Given the description of an element on the screen output the (x, y) to click on. 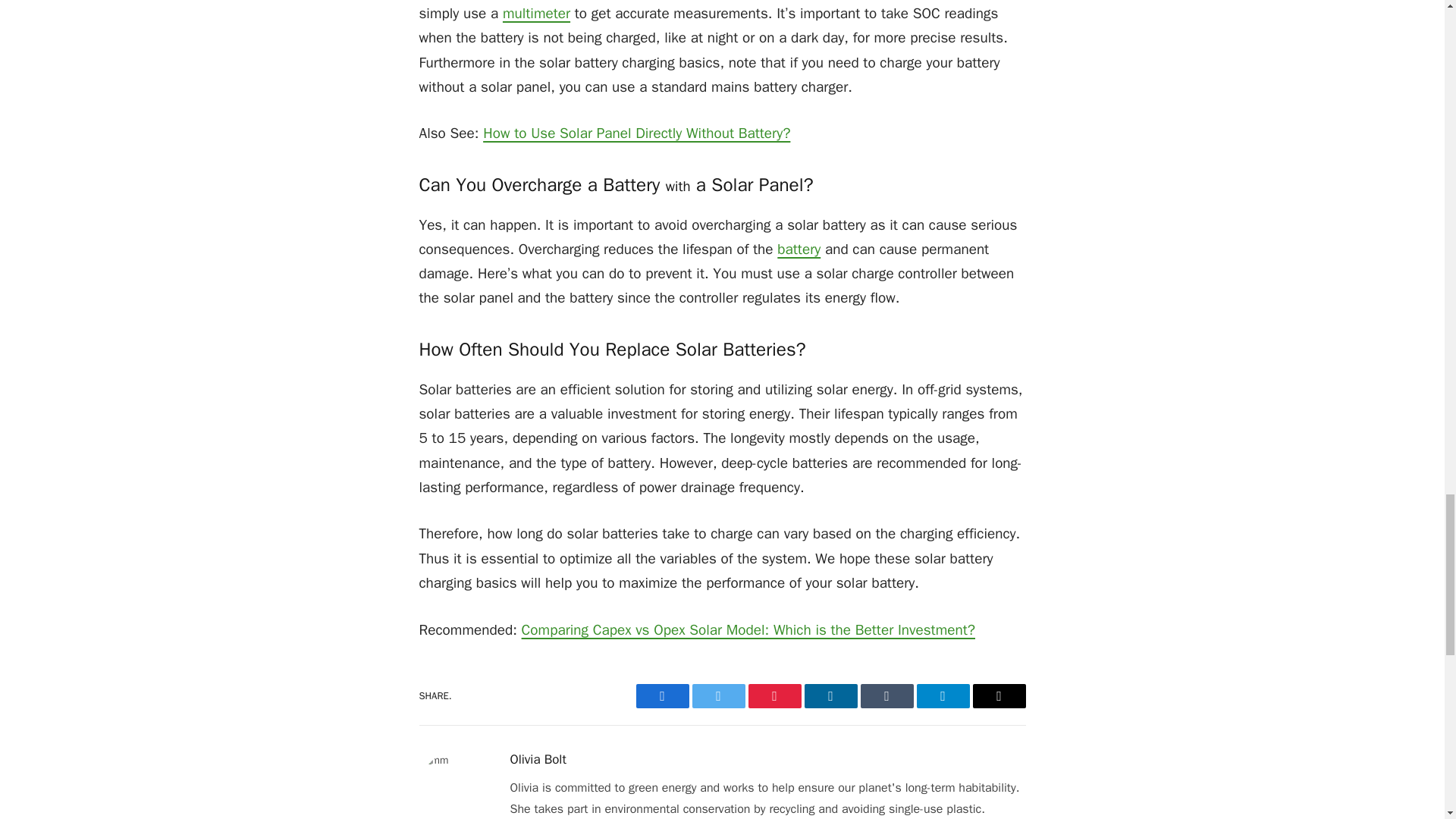
Share on LinkedIn (830, 695)
Pinterest (774, 695)
Posts by Olivia Bolt (537, 759)
Share on Tumblr (886, 695)
Telegram (942, 695)
Tumblr (886, 695)
battery (799, 249)
multimeter (536, 13)
Share on Pinterest (774, 695)
Share on Facebook (661, 695)
